Given the description of an element on the screen output the (x, y) to click on. 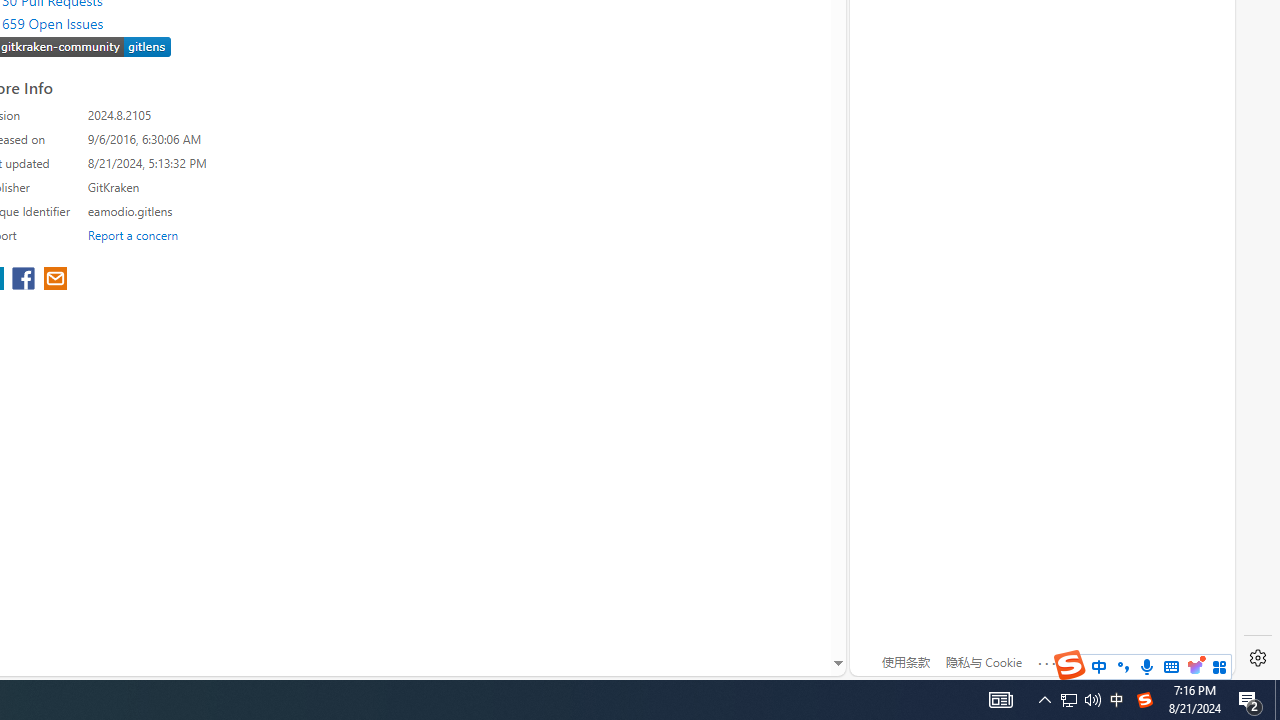
Report a concern (133, 234)
share extension on email (54, 280)
share extension on facebook (26, 280)
